Given the description of an element on the screen output the (x, y) to click on. 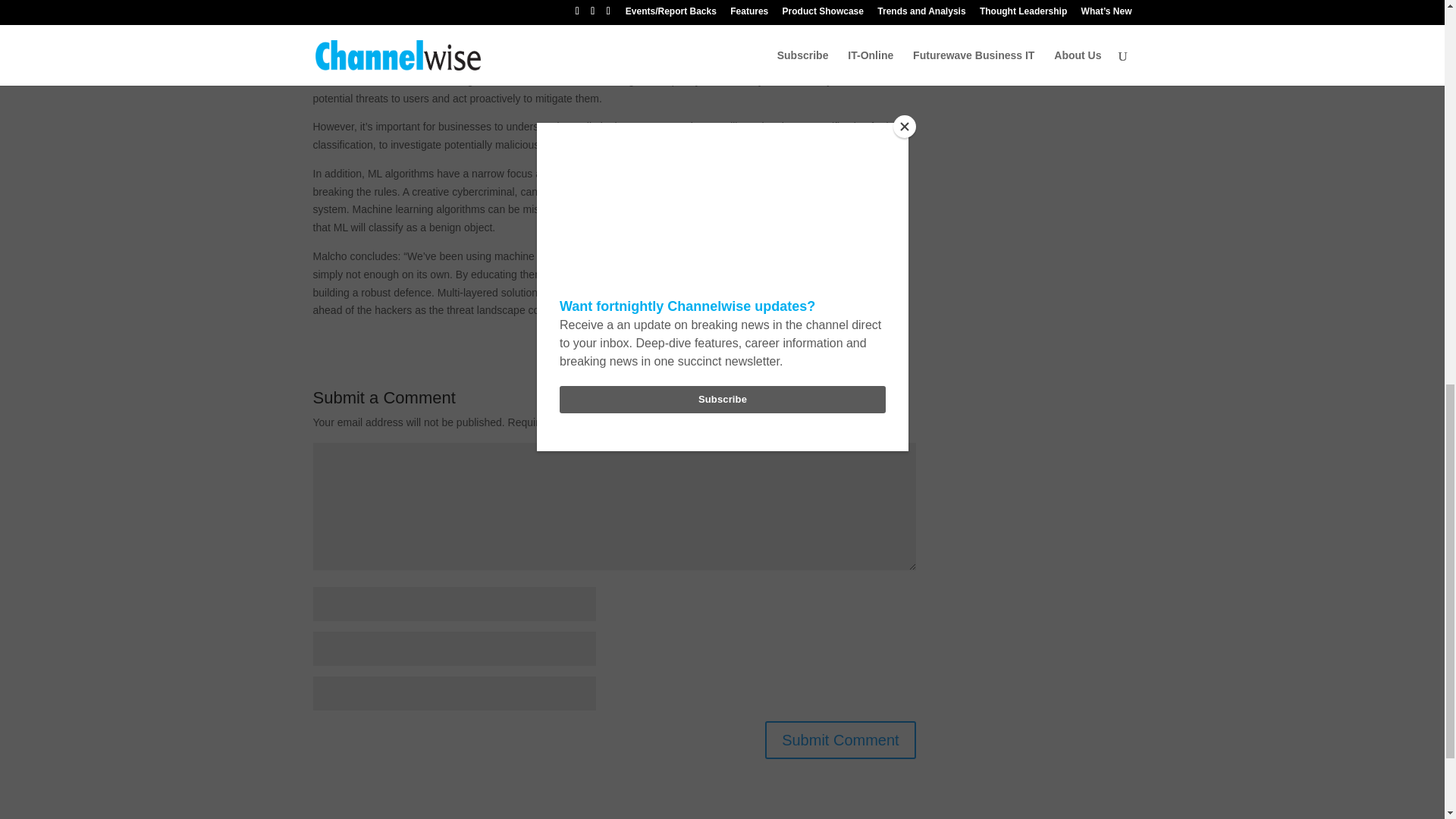
Submit Comment (840, 740)
Submit Comment (840, 740)
